Given the description of an element on the screen output the (x, y) to click on. 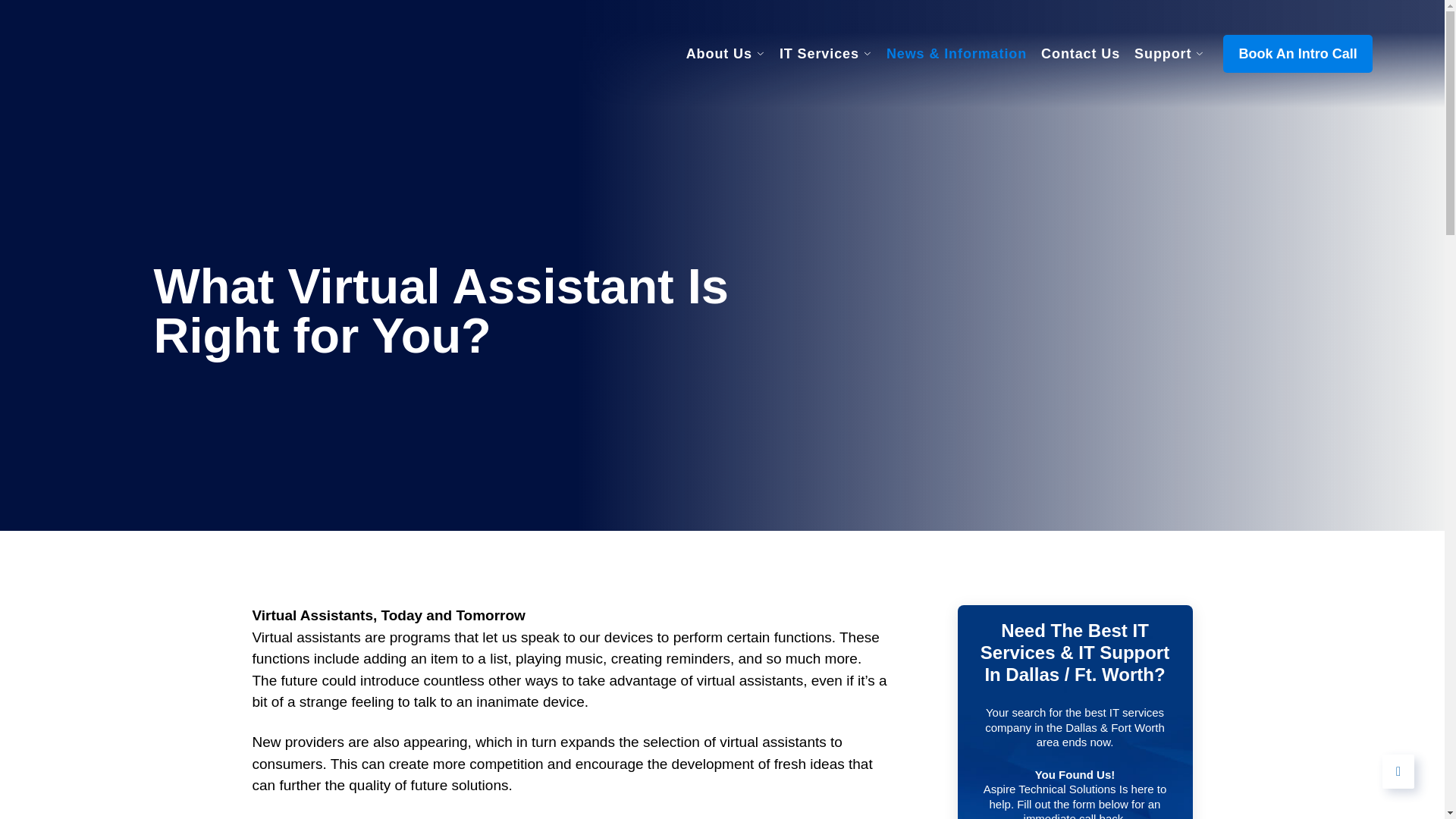
About Us (725, 53)
IT Services (825, 53)
